Given the description of an element on the screen output the (x, y) to click on. 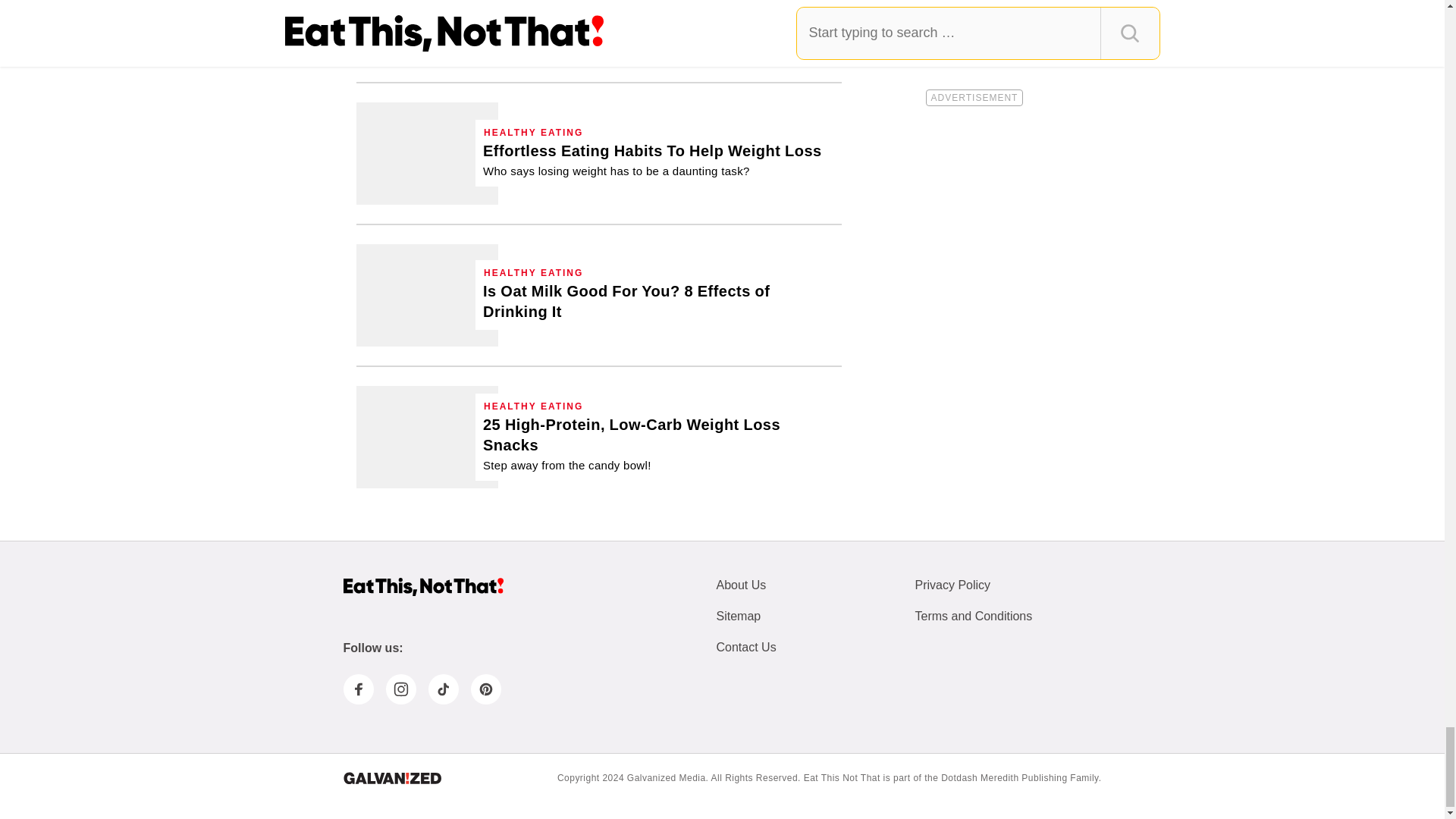
25 Best High-Protein, Low-Carb Snacks for Weight Loss (658, 443)
5 Worst Eating Habits for Rapid Weight Loss, Says Dietitian (426, 31)
Is Oat Milk Good For You? 8 Effects of Drinking It (426, 295)
25 Best High-Protein, Low-Carb Snacks for Weight Loss (426, 436)
Is Oat Milk Good For You? 8 Effects of Drinking It (658, 301)
5 Worst Eating Habits for Rapid Weight Loss, Says Dietitian (650, 18)
